Given the description of an element on the screen output the (x, y) to click on. 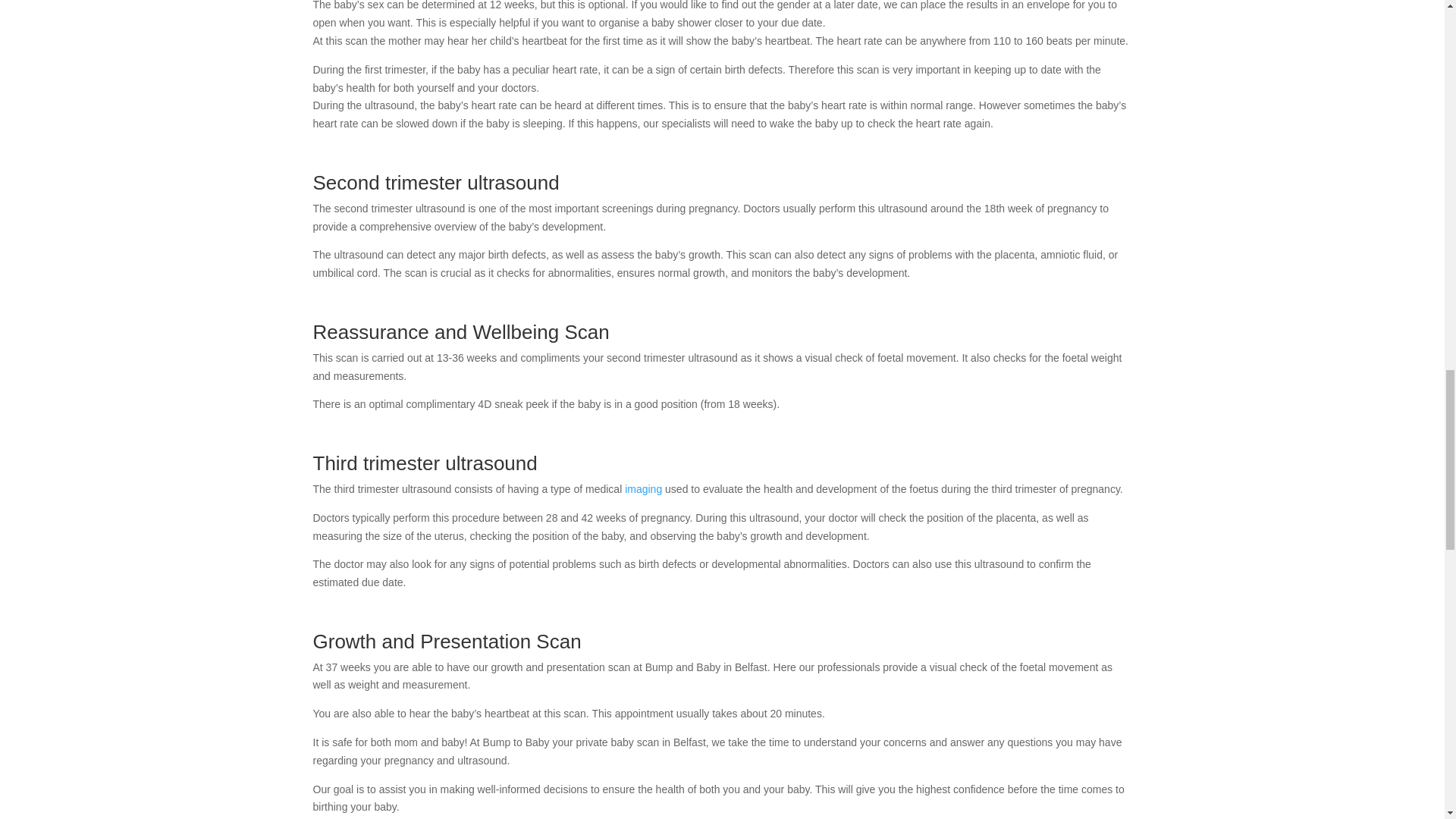
imaging (643, 489)
